Given the description of an element on the screen output the (x, y) to click on. 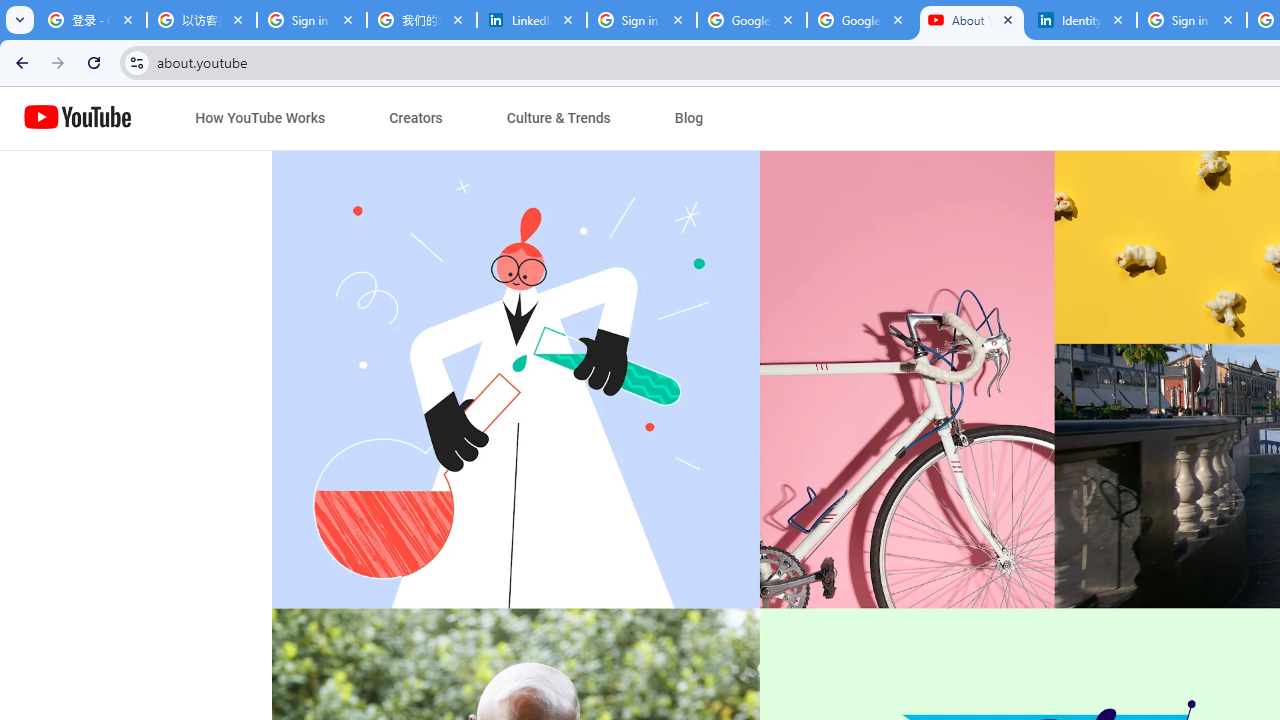
Jump to content (186, 119)
Sign in - Google Accounts (312, 20)
Blog (689, 118)
How YouTube Works (260, 118)
Home page link (77, 118)
Sign in - Google Accounts (642, 20)
